Given the description of an element on the screen output the (x, y) to click on. 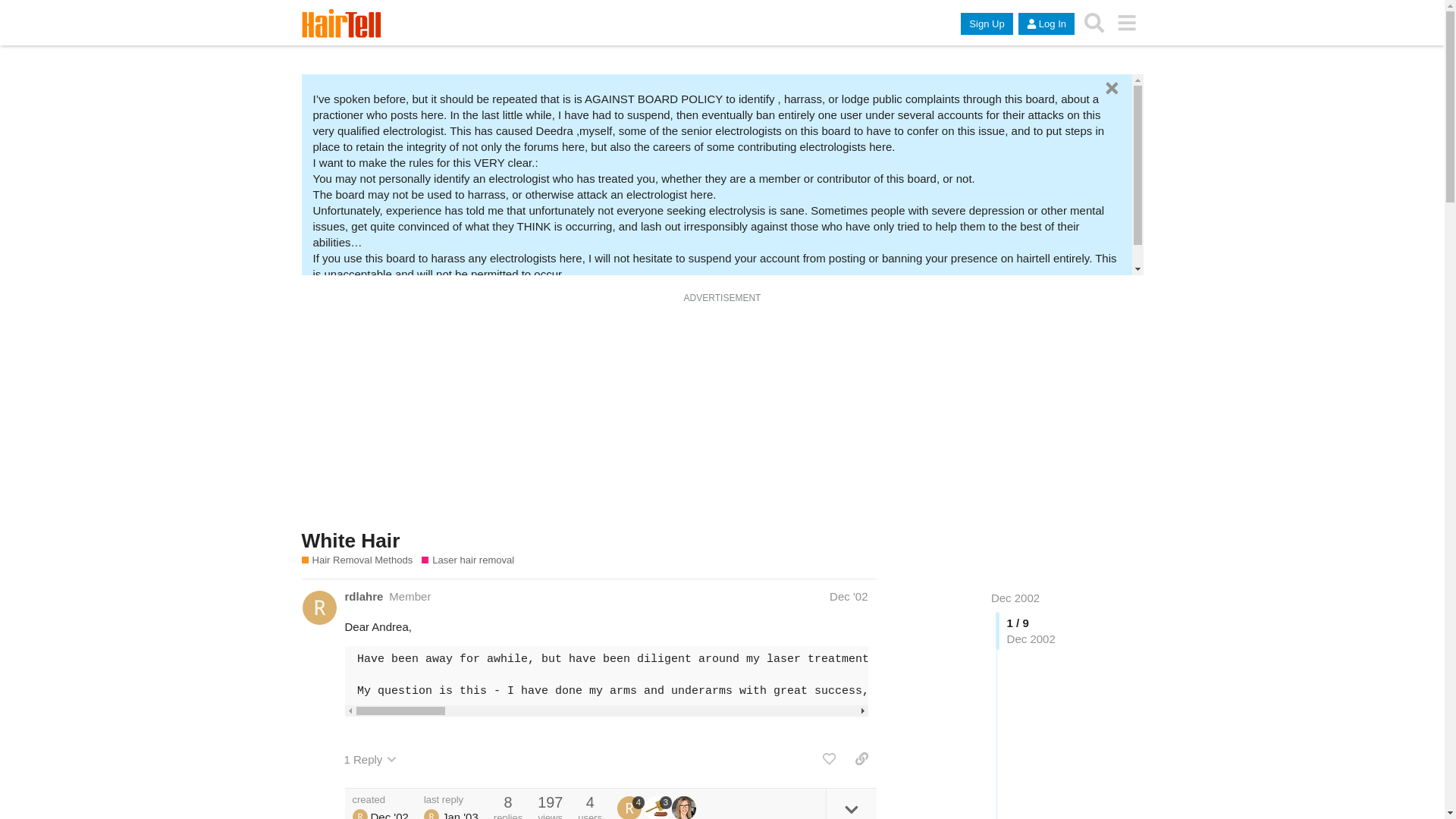
rdlahre (362, 596)
Dismiss this banner. (1110, 88)
Dec 2002 (1015, 597)
Log In (1045, 24)
Dec 6, 2002 6:04 am (848, 595)
last reply (451, 799)
rdlahre (431, 814)
Laser hair removal (467, 560)
1 Reply (370, 759)
Dec 6, 2002 6:04 am (388, 814)
menu (1126, 22)
White Hair (350, 540)
1 Reply (370, 759)
Dec '02 (848, 595)
Hair Removal Methods (363, 560)
